Given the description of an element on the screen output the (x, y) to click on. 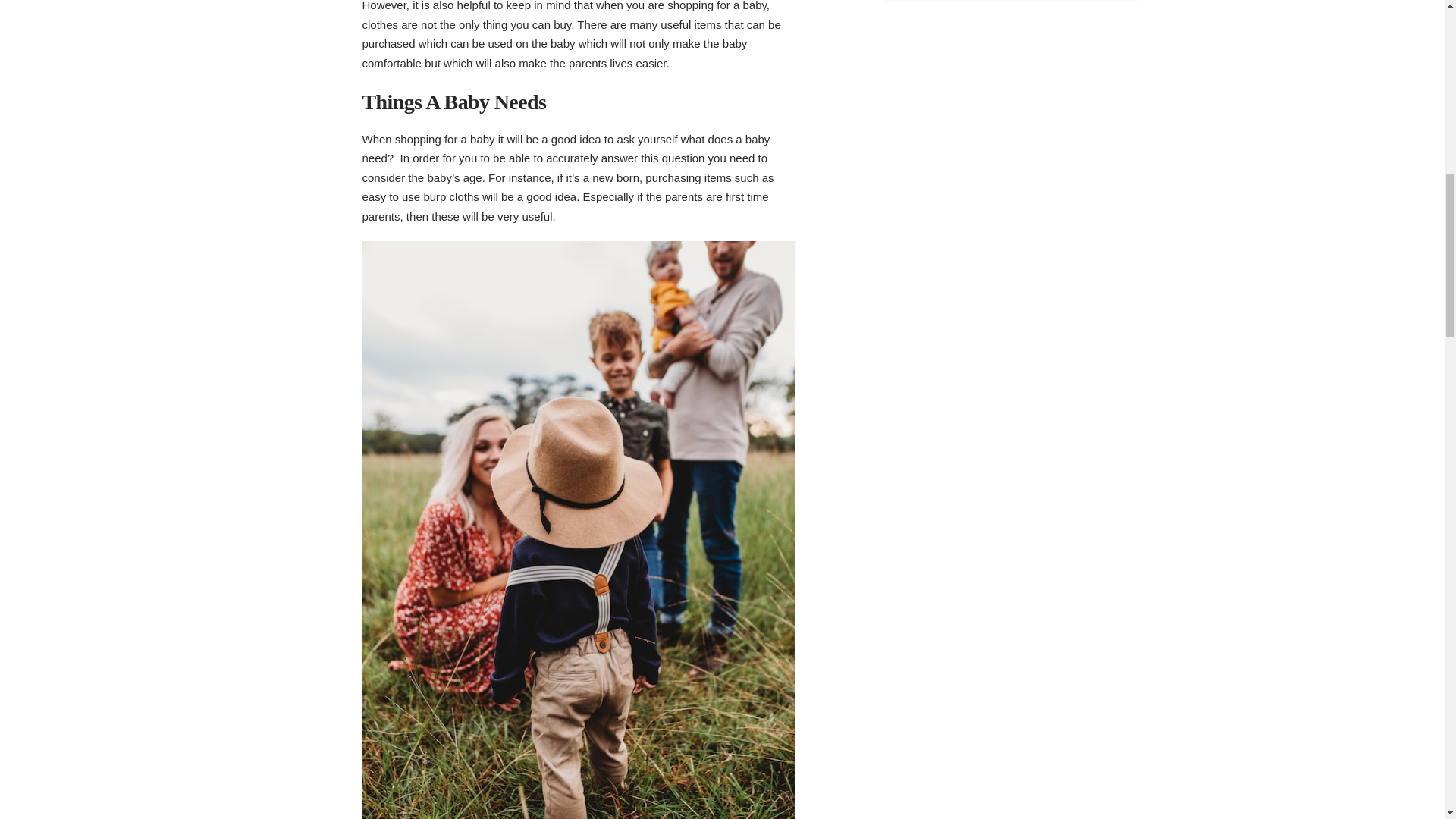
easy to use burp cloths (420, 196)
